Given the description of an element on the screen output the (x, y) to click on. 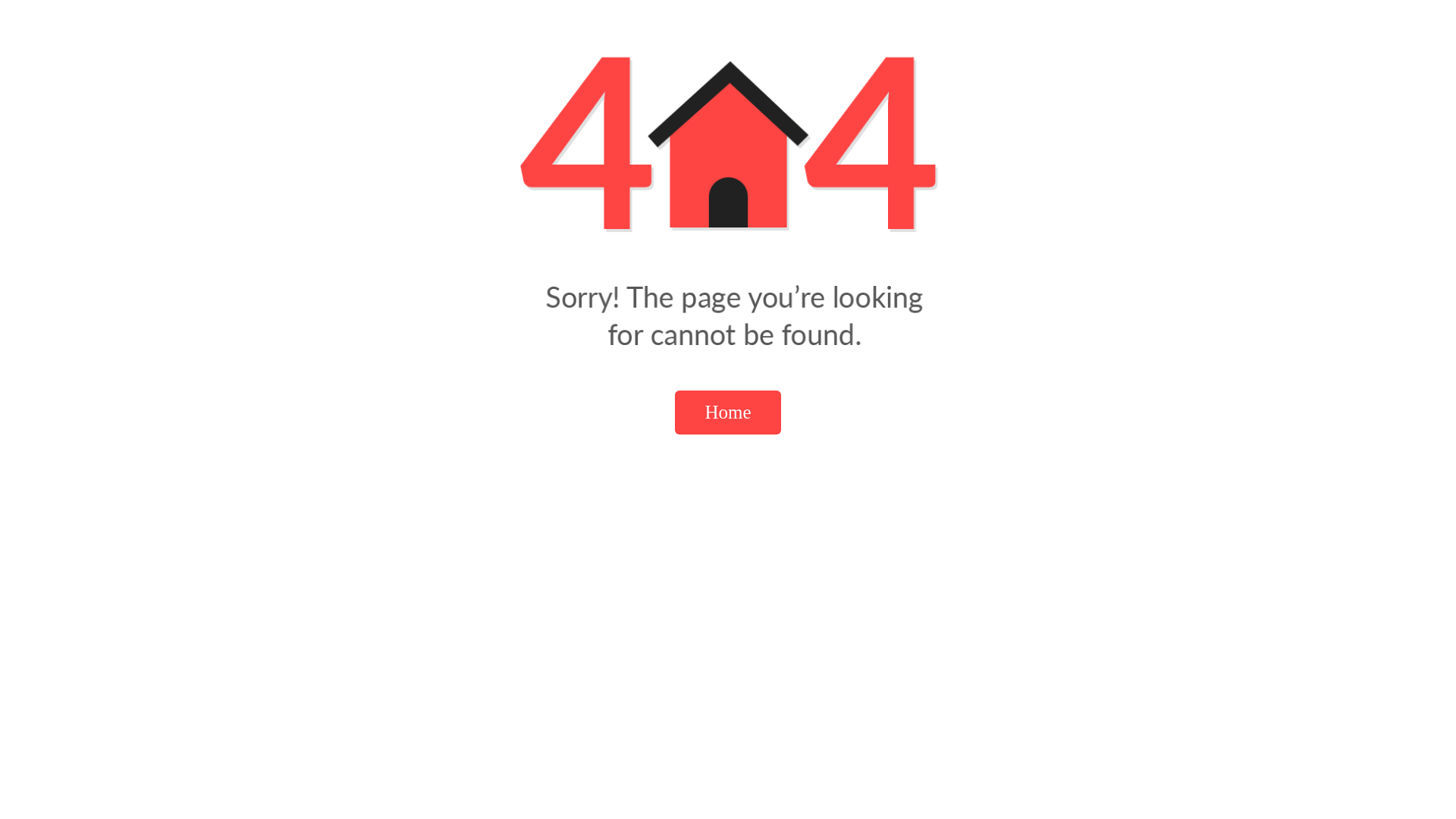
Home Element type: text (727, 412)
